Given the description of an element on the screen output the (x, y) to click on. 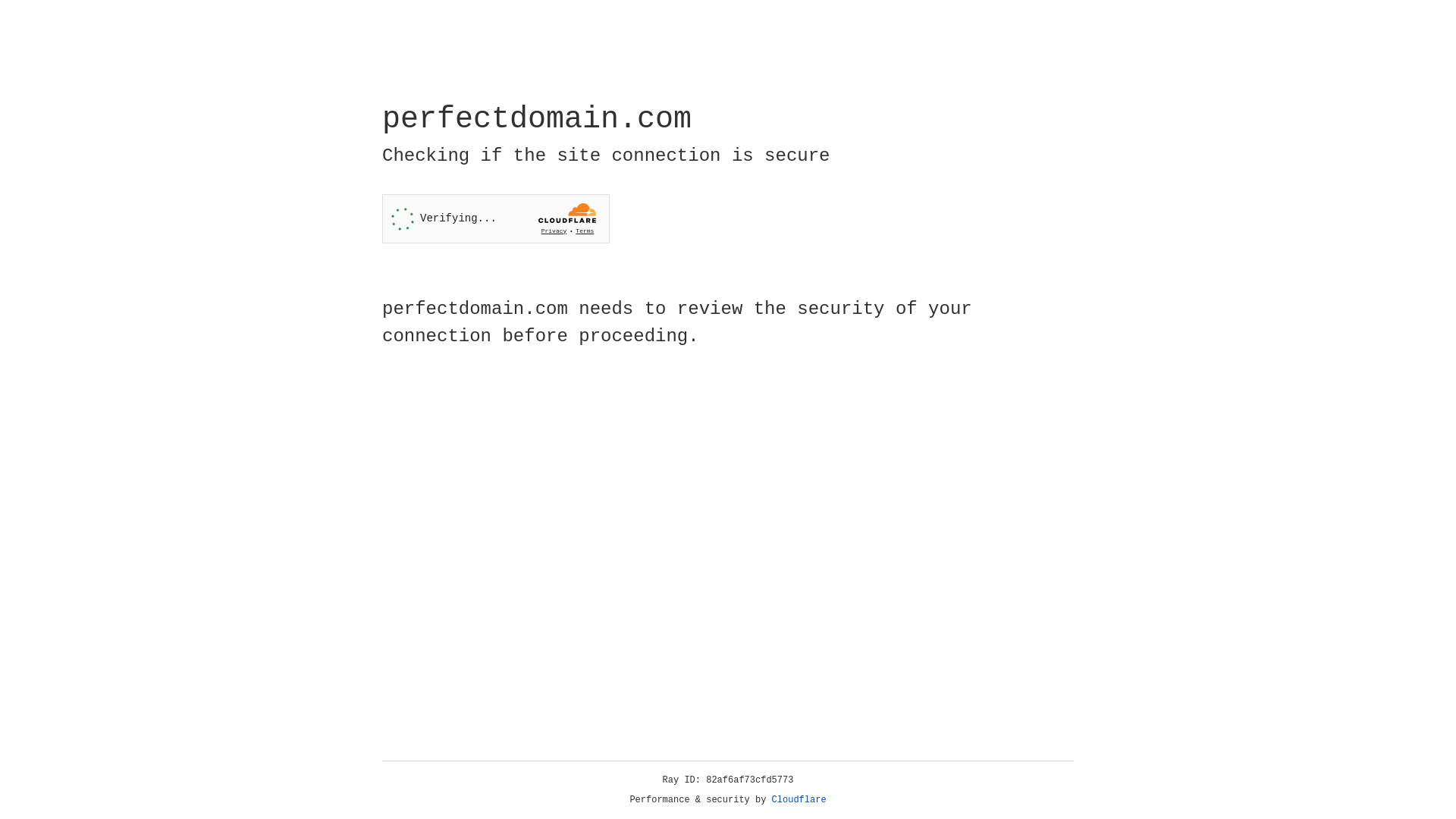
Widget containing a Cloudflare security challenge Element type: hover (495, 218)
Cloudflare Element type: text (798, 799)
